Given the description of an element on the screen output the (x, y) to click on. 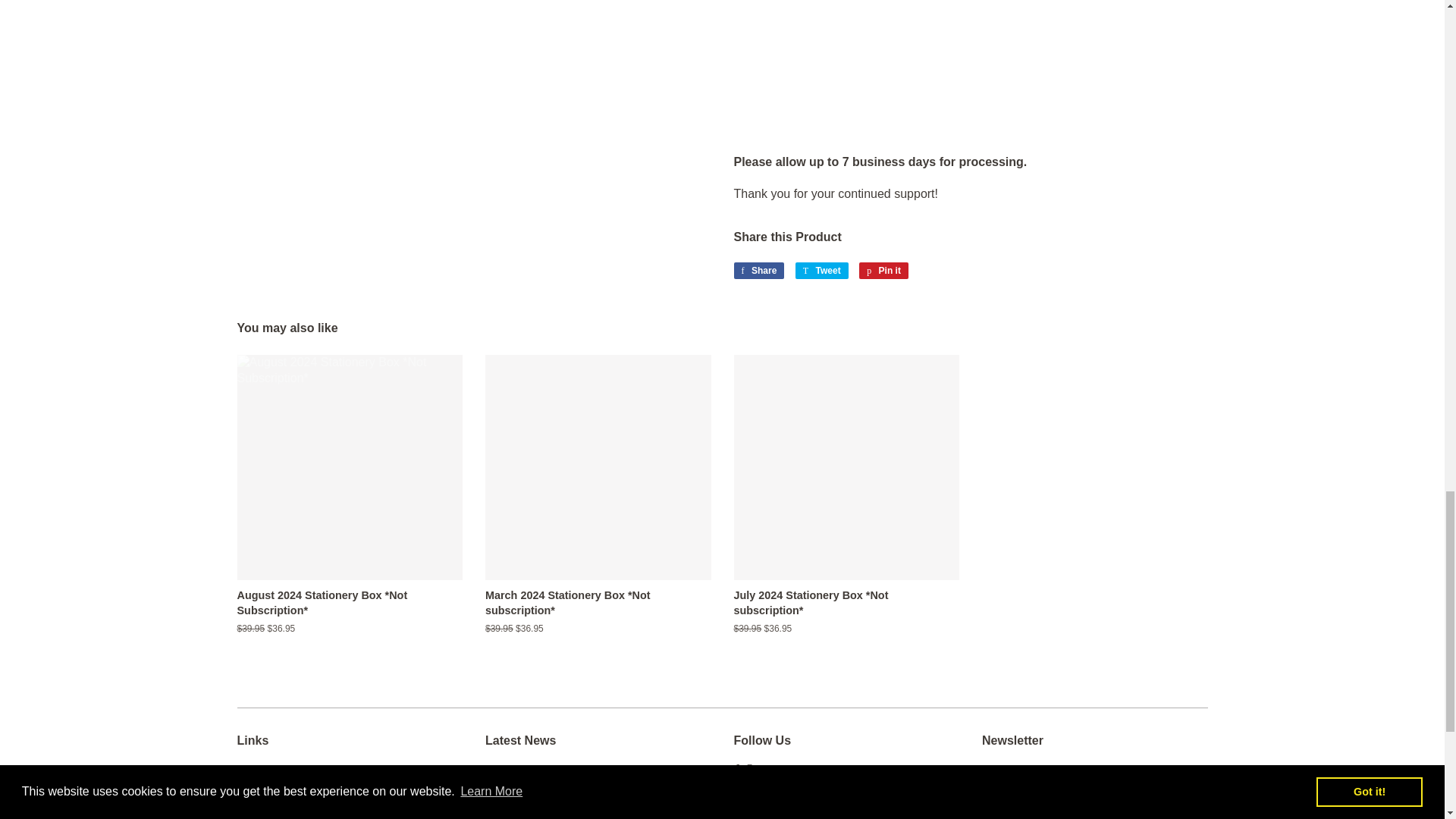
Pin on Pinterest (883, 270)
Share on Facebook (758, 270)
YouTube video player (970, 38)
Tweet on Twitter (821, 270)
